Given the description of an element on the screen output the (x, y) to click on. 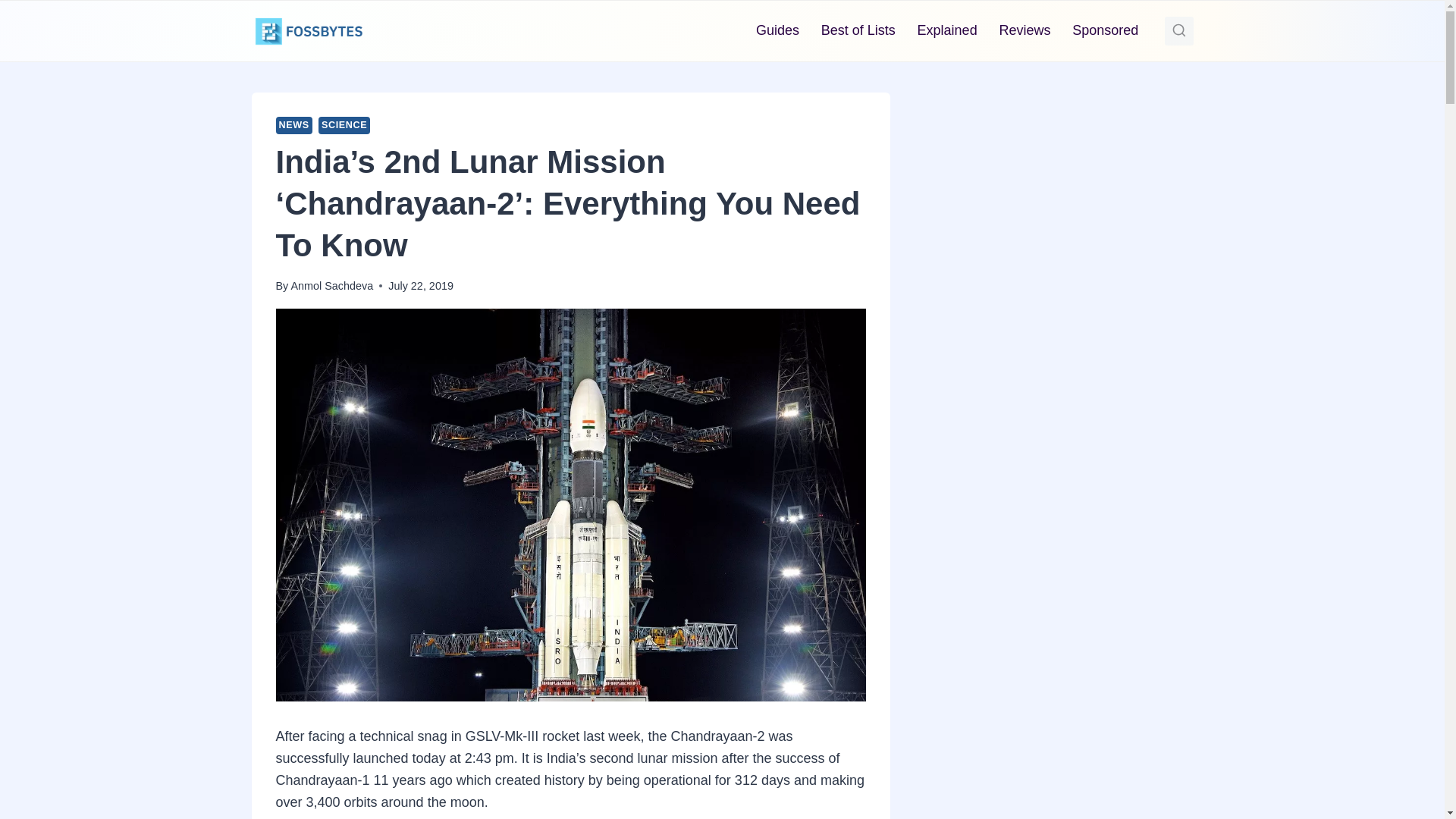
Best of Lists (857, 30)
Explained (946, 30)
Sponsored (1105, 30)
Anmol Sachdeva (330, 285)
Reviews (1024, 30)
Guides (777, 30)
SCIENCE (343, 125)
NEWS (294, 125)
